Given the description of an element on the screen output the (x, y) to click on. 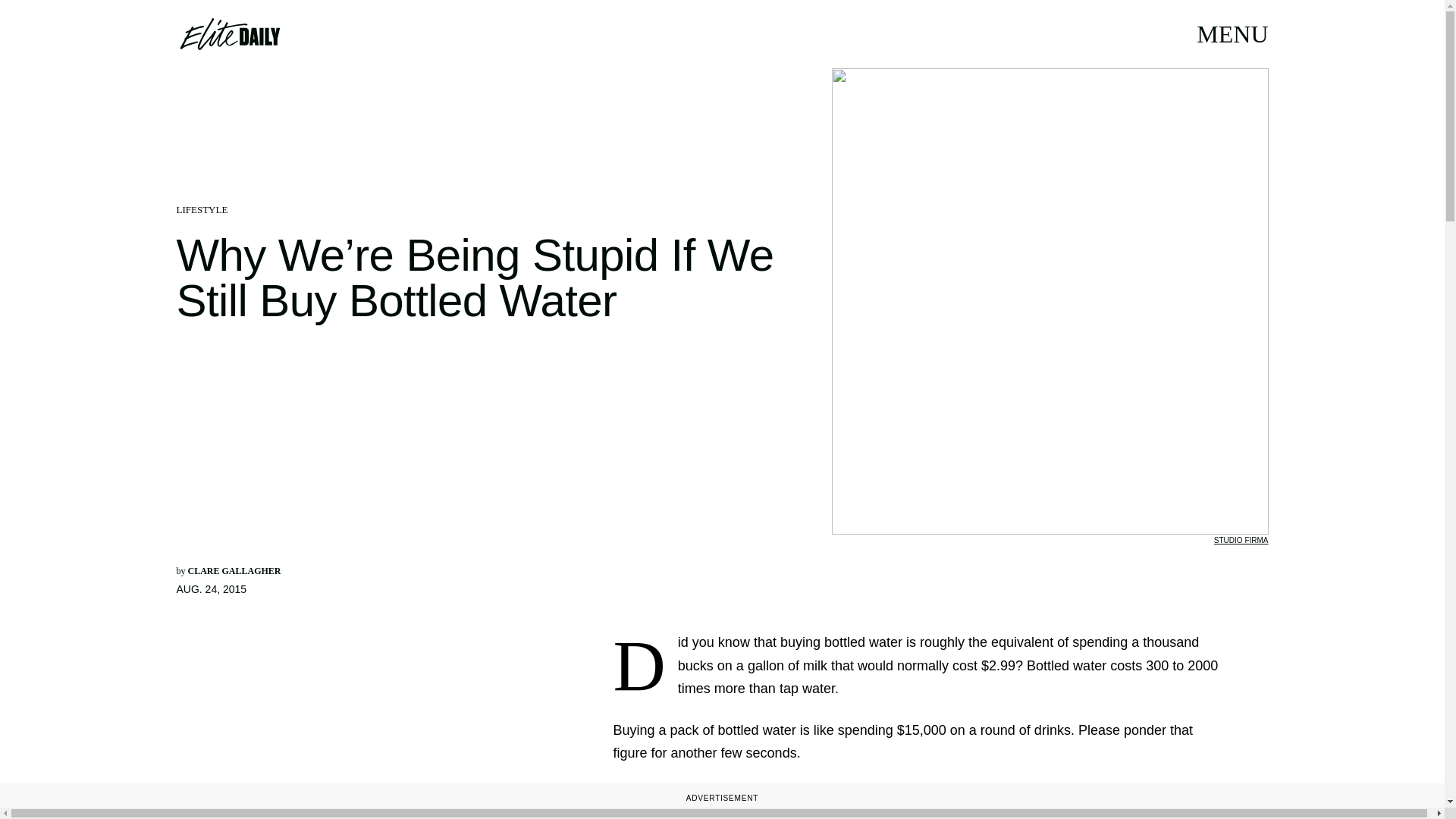
Elite Daily (229, 33)
STUDIO FIRMA (1241, 540)
